Given the description of an element on the screen output the (x, y) to click on. 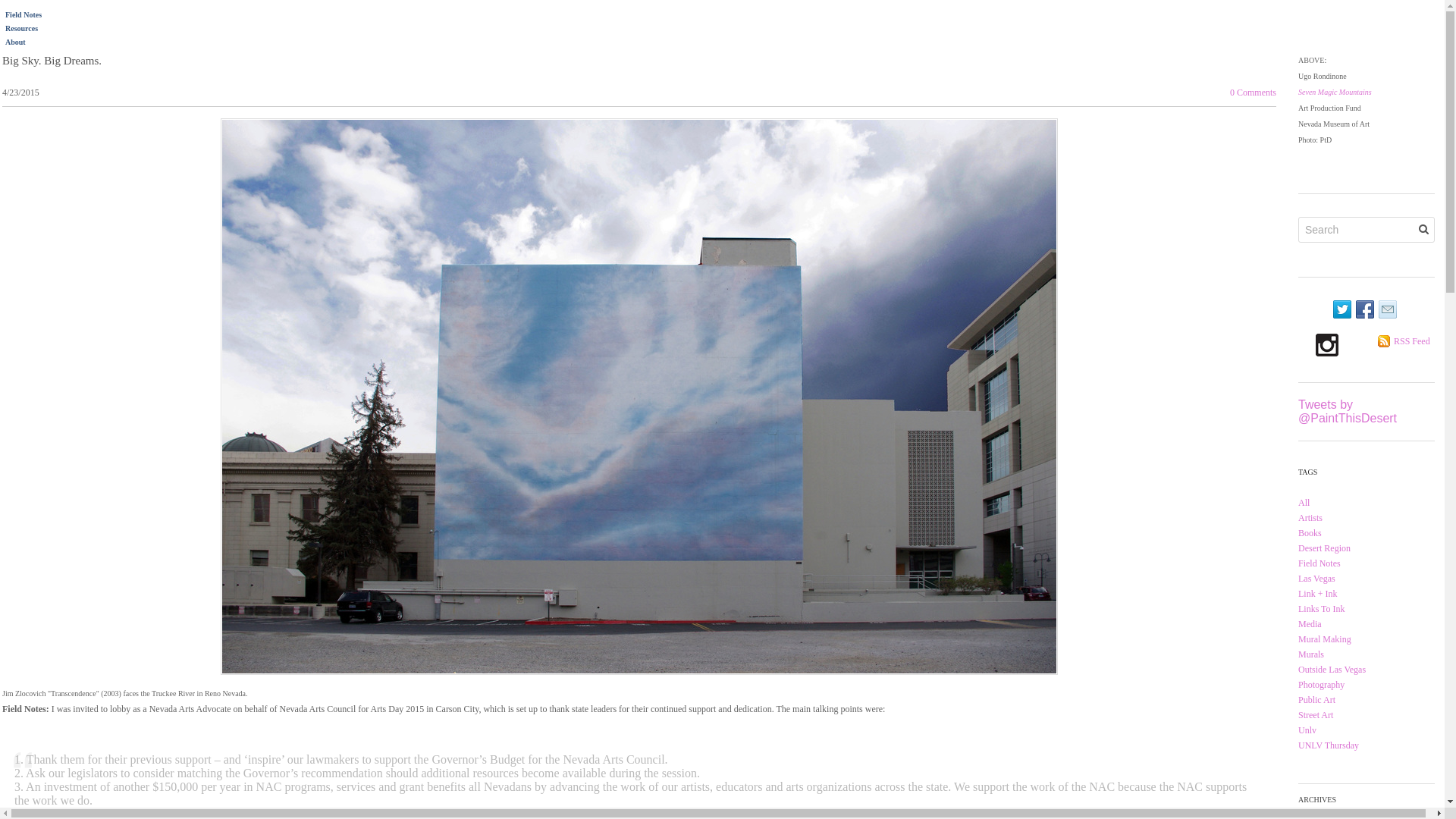
About (15, 41)
Media (1310, 624)
Resources (21, 28)
Search (1423, 229)
Field Notes (1319, 562)
Seven Magic Mountains (1334, 91)
Links To Ink (1321, 608)
Big Sky. Big Dreams. (51, 60)
RSS Feed (1411, 340)
0 Comments (1253, 91)
Books (1310, 532)
Desert Region (1324, 547)
Field Notes (23, 14)
All (1303, 502)
Las Vegas (1316, 578)
